Given the description of an element on the screen output the (x, y) to click on. 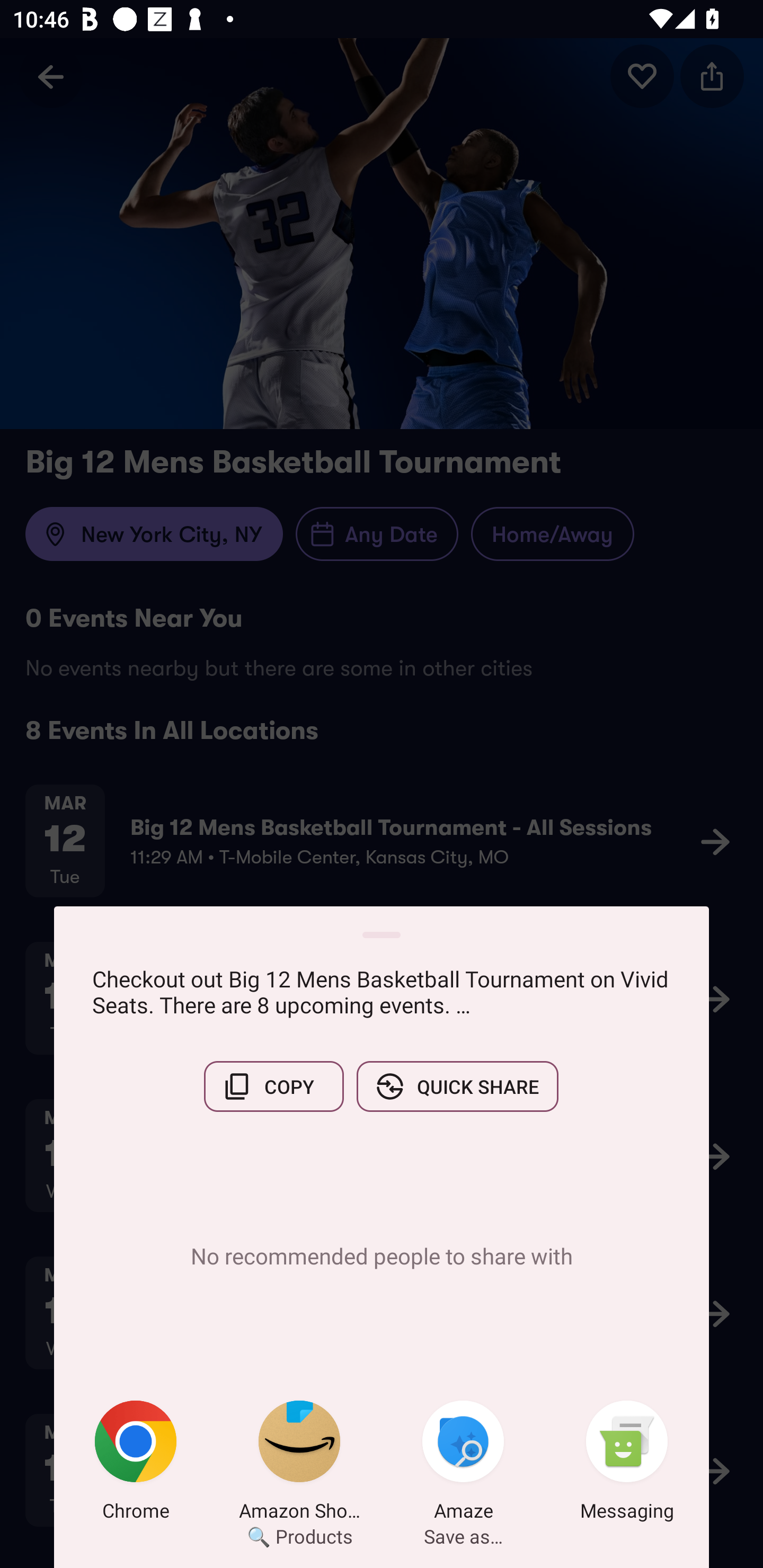
COPY (273, 1086)
QUICK SHARE (457, 1086)
Chrome (135, 1463)
Amazon Shopping 🔍 Products (299, 1463)
Amaze Save as… (463, 1463)
Messaging (626, 1463)
